Given the description of an element on the screen output the (x, y) to click on. 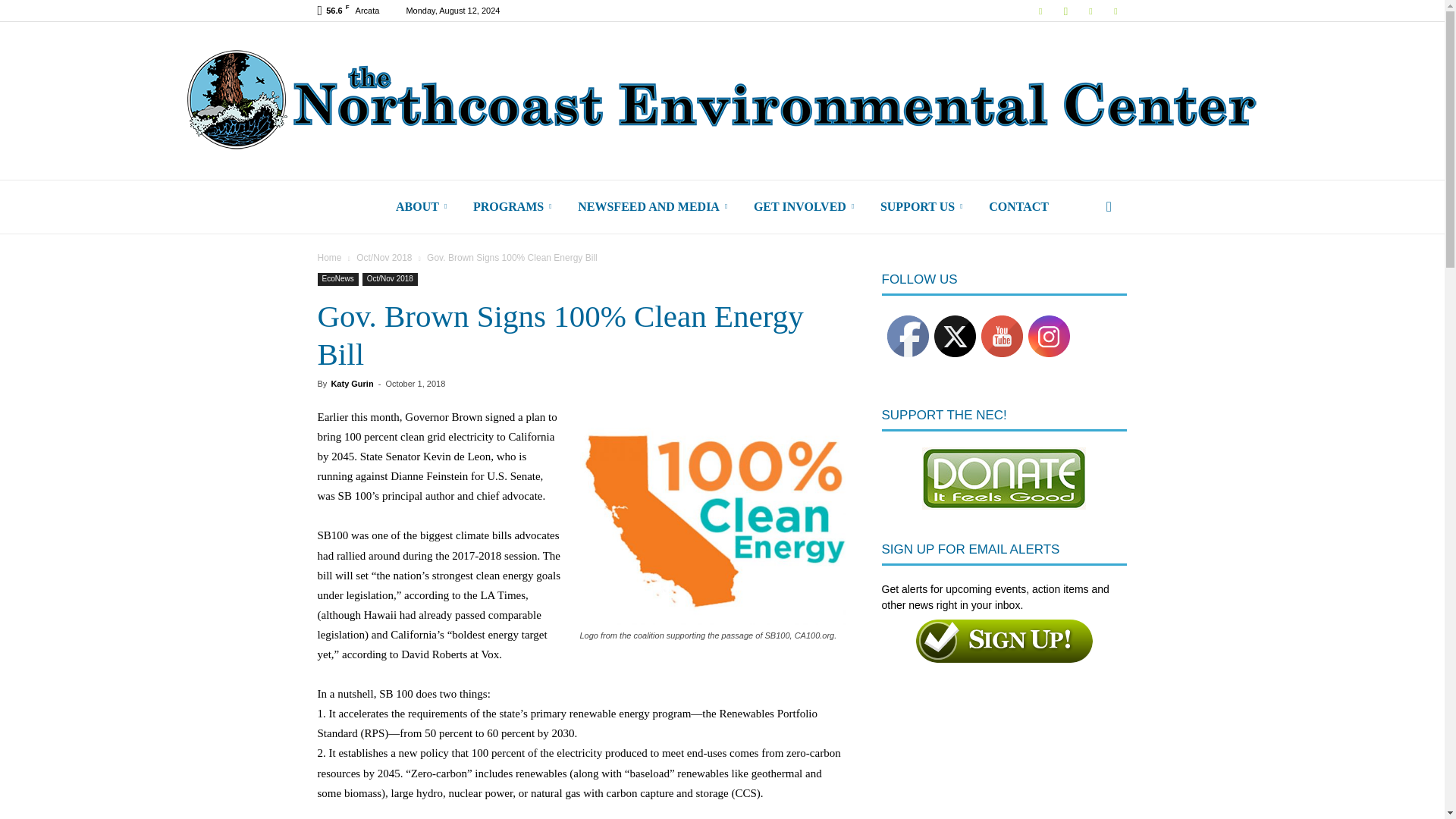
Instagram (1065, 10)
Youtube (1114, 10)
Twitter (1090, 10)
Facebook (1040, 10)
